Given the description of an element on the screen output the (x, y) to click on. 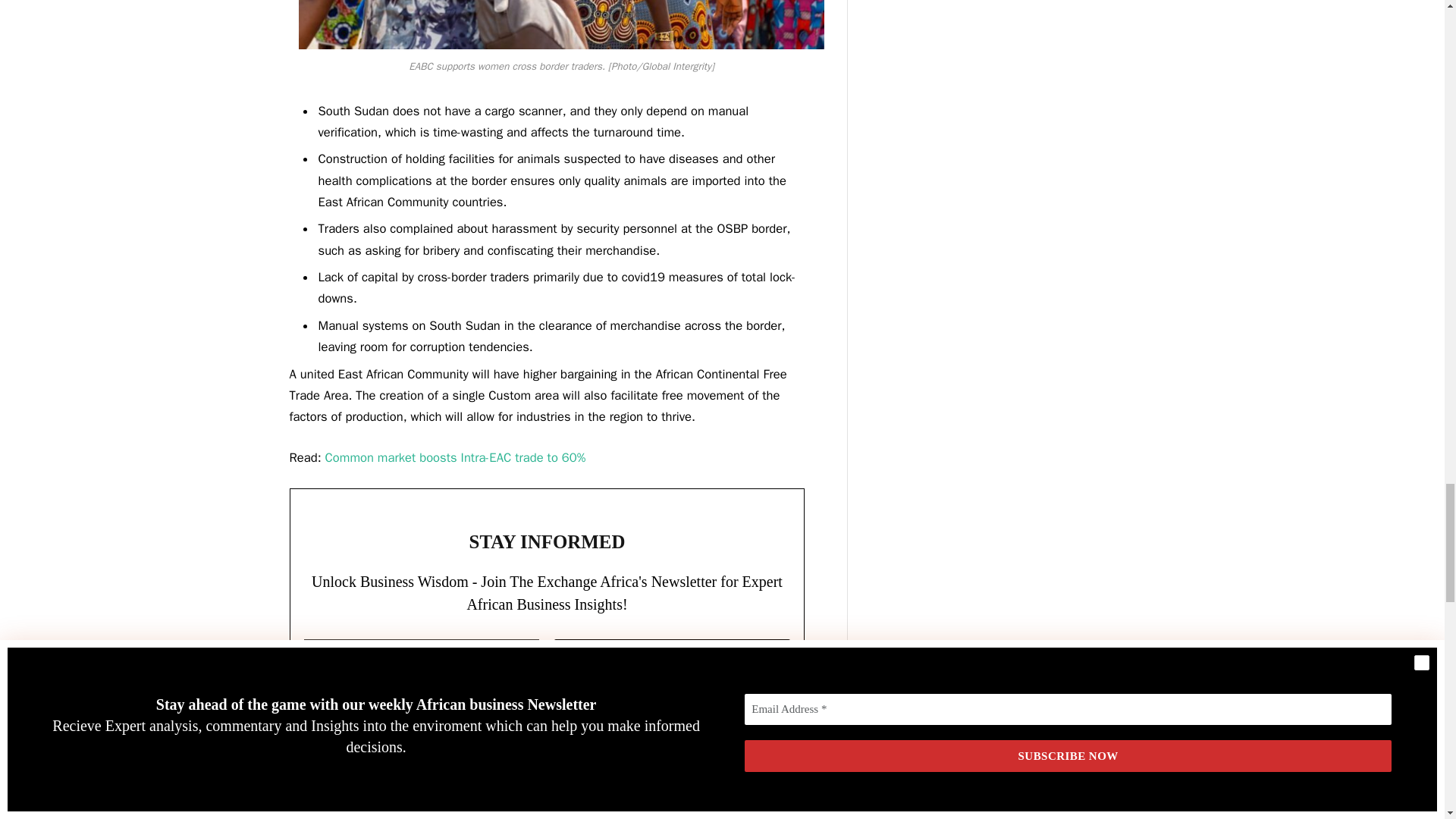
SUBSCRIBE (672, 661)
